Given the description of an element on the screen output the (x, y) to click on. 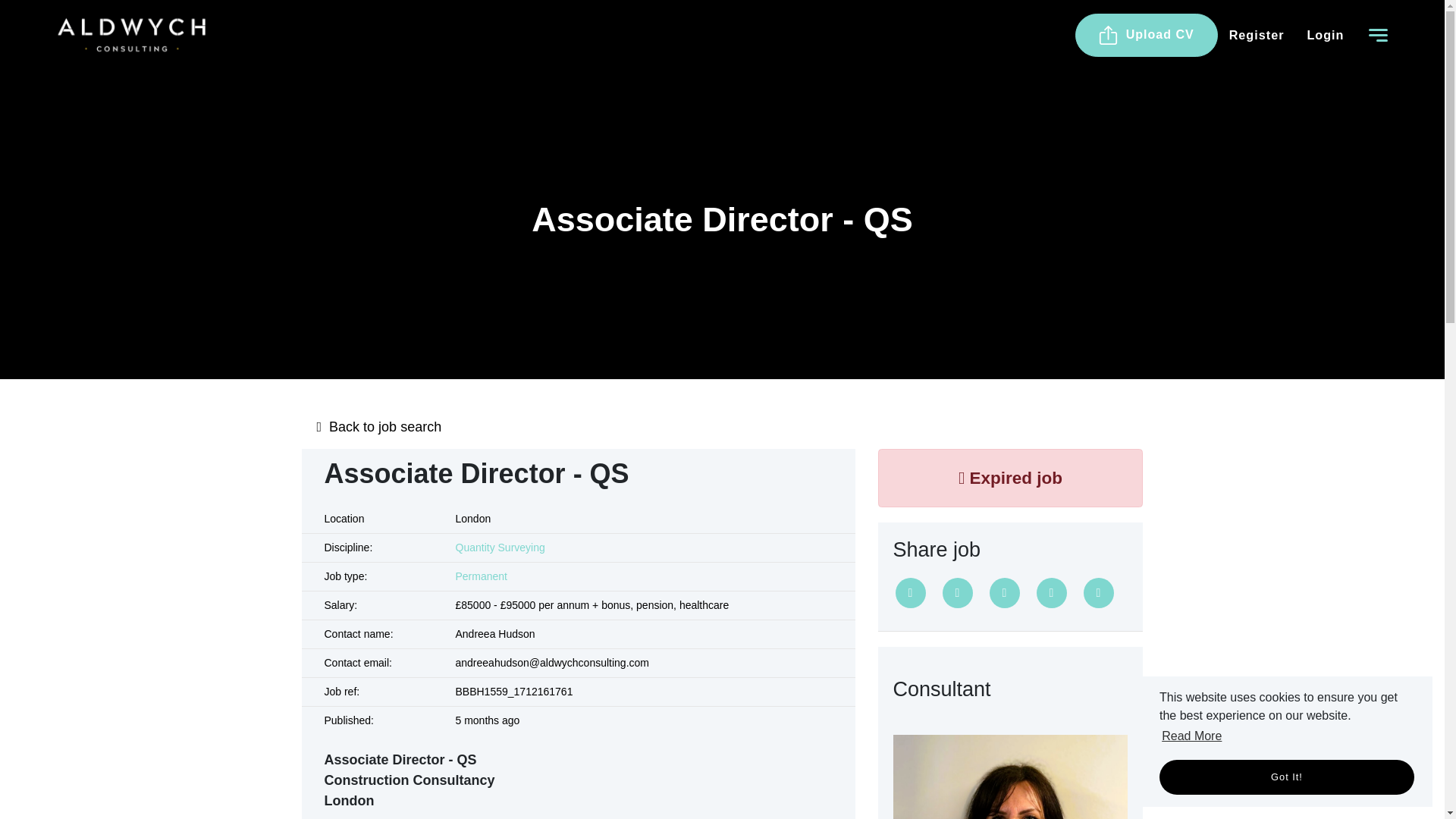
share on Facebook (957, 593)
Back to job search (721, 426)
send in Whatsapp (1098, 593)
share on LinkedIn (1003, 593)
Tweet this (909, 593)
Permanent (480, 576)
Got It! (1285, 777)
Login (1325, 34)
Read More (1191, 735)
Email (1050, 593)
